Given the description of an element on the screen output the (x, y) to click on. 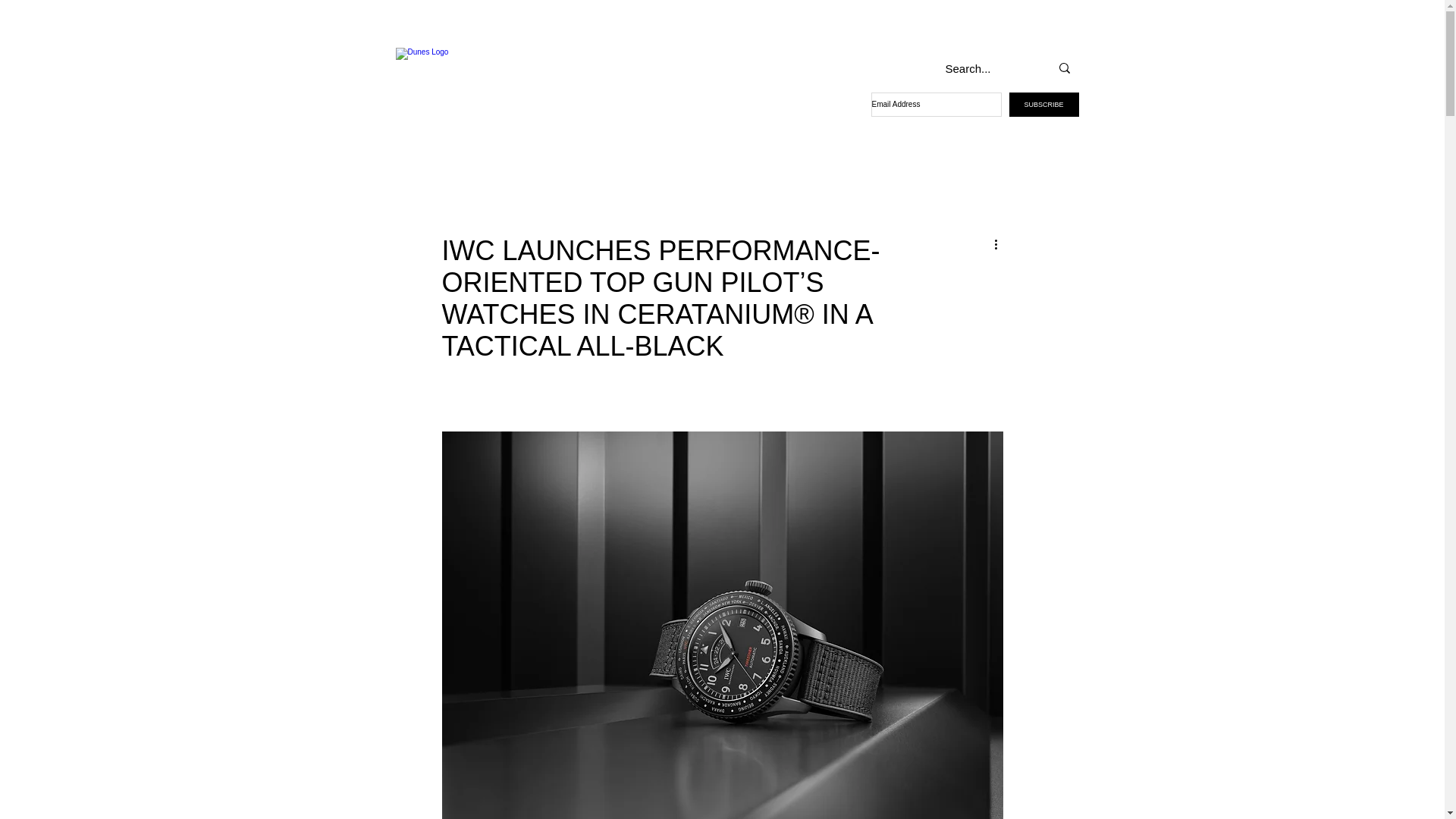
DUNES MAGAZINE (492, 85)
SUBSCRIBE (1043, 104)
